Given the description of an element on the screen output the (x, y) to click on. 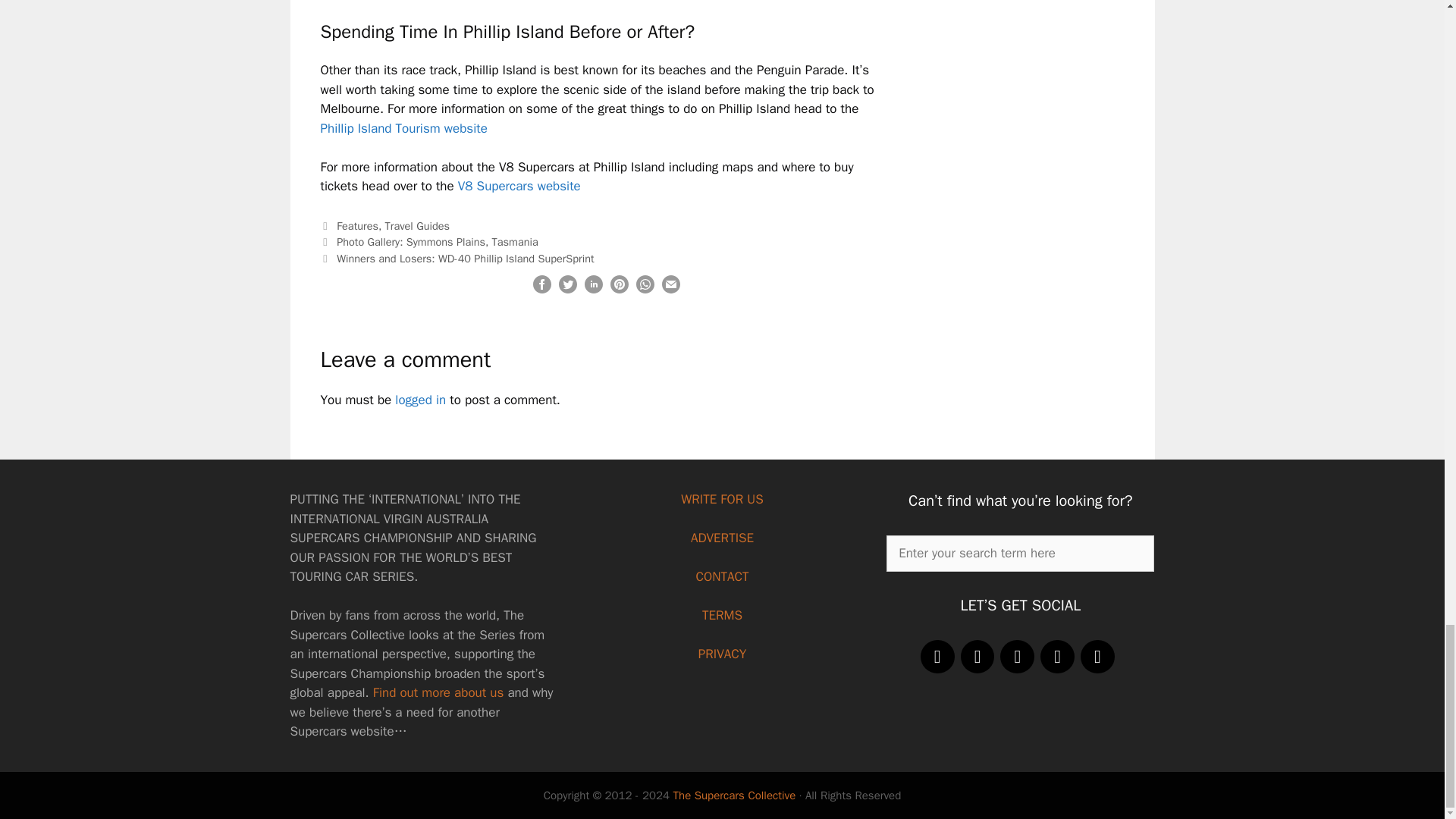
Pin this post! (619, 289)
Share this post! (541, 289)
Email this post! (670, 289)
Tweet this post! (567, 289)
Share this post! (593, 289)
Search for: (1020, 553)
Share this post! (644, 289)
